Given the description of an element on the screen output the (x, y) to click on. 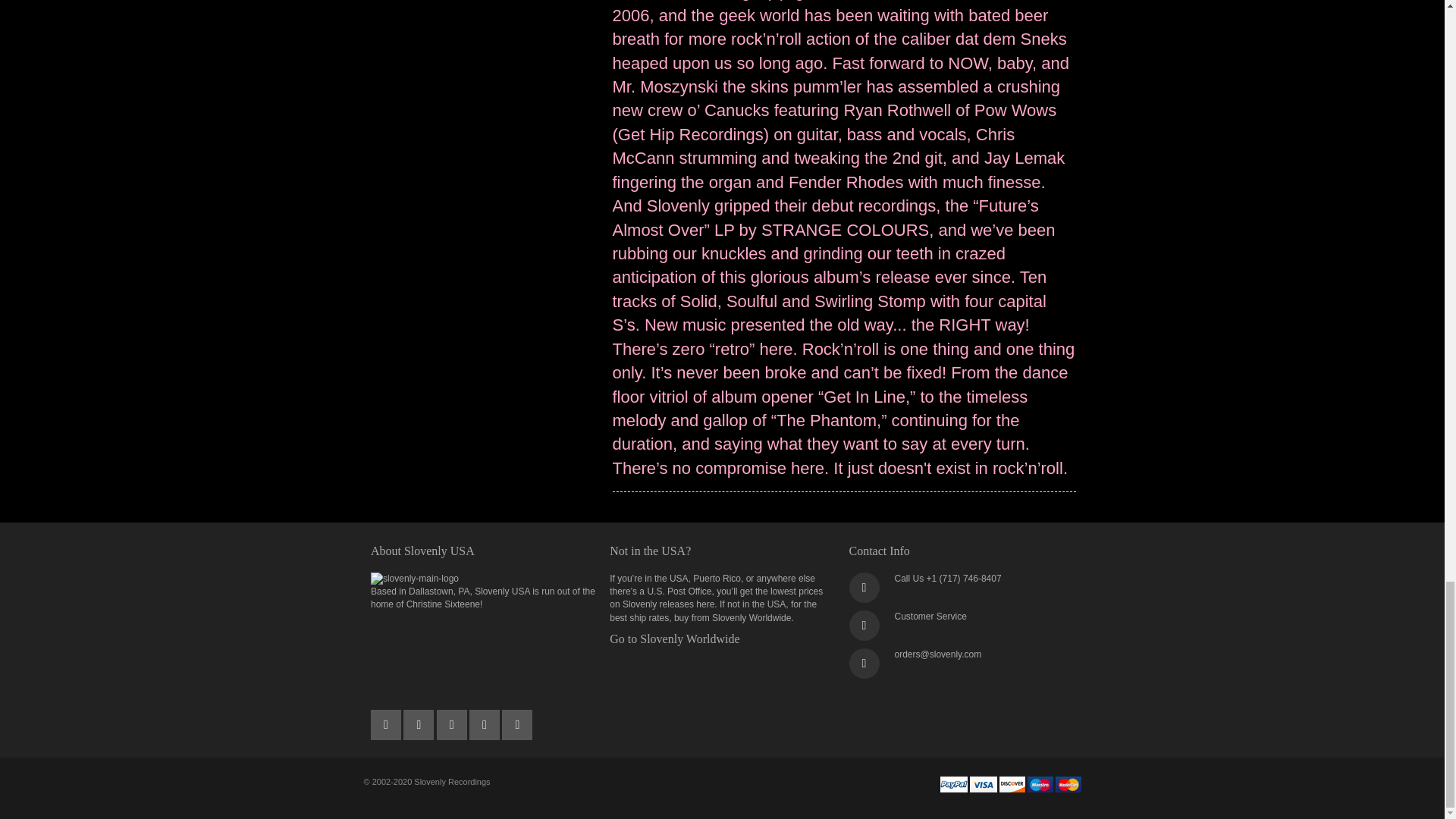
Slovenly Twitter (387, 720)
Slovenly Youtube (452, 720)
Slovenly Instagram (485, 720)
Slovenly Facebook (419, 720)
